Given the description of an element on the screen output the (x, y) to click on. 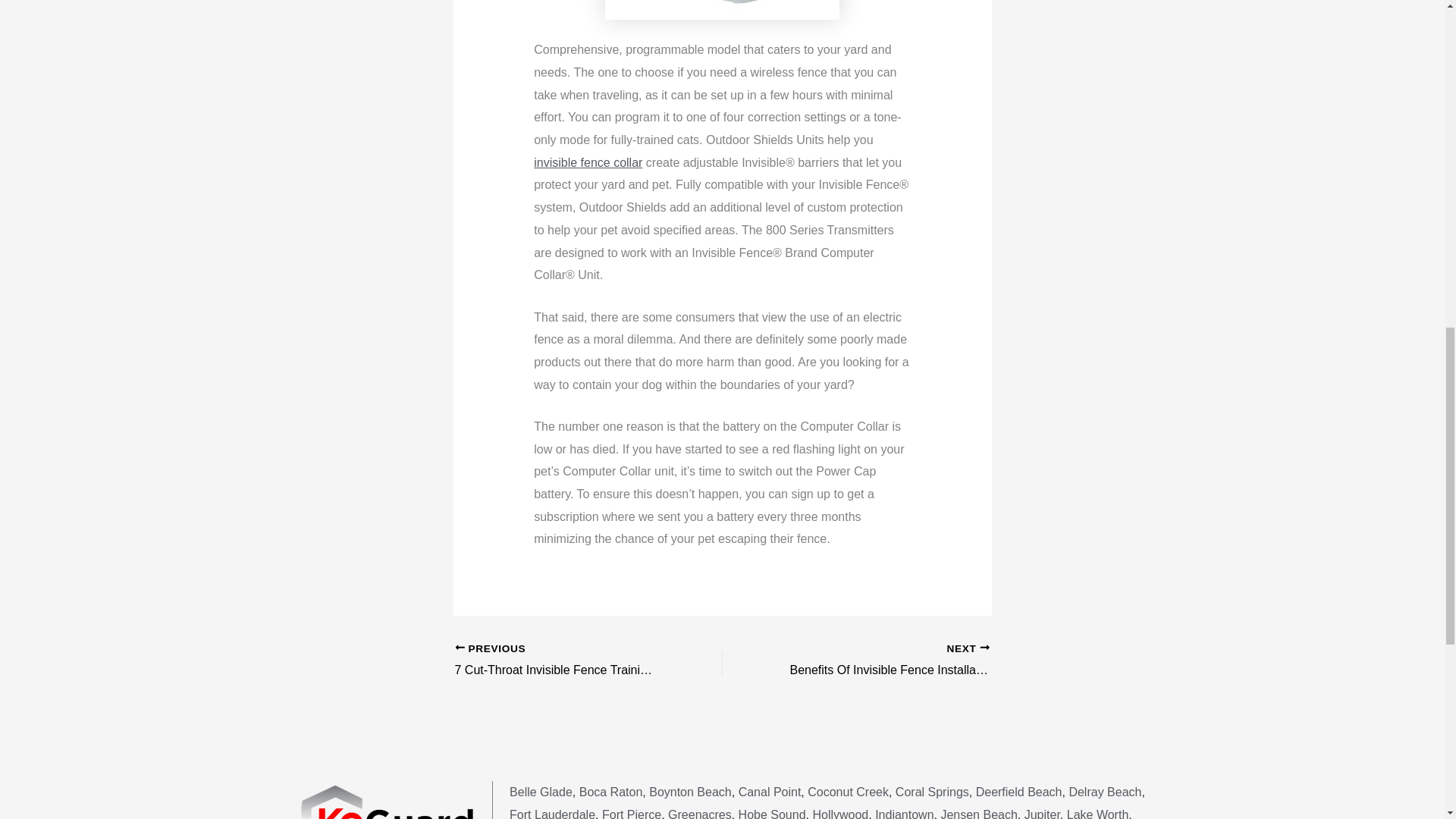
invisible fence collar (588, 162)
Boca Raton (611, 791)
7 Cut-Throat Invisible Fence Training Ways That Never Fails (561, 660)
Belle Glade (540, 791)
Canal Point (770, 791)
Deerfield Beach (1018, 791)
Coral Springs (932, 791)
Boynton Beach (882, 660)
Coconut Creek (690, 791)
